Given the description of an element on the screen output the (x, y) to click on. 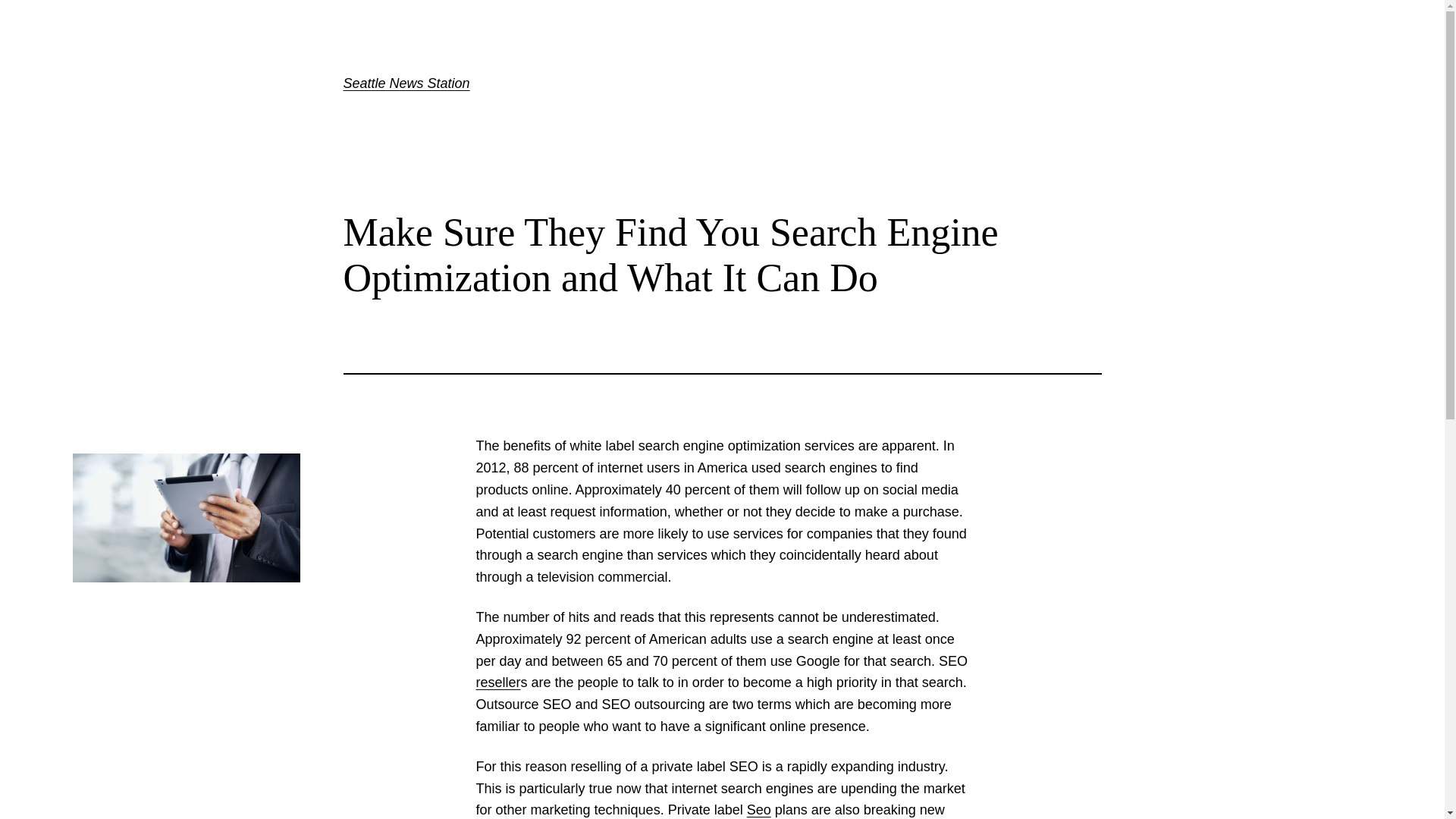
Interesting stuff (758, 809)
reseller (498, 682)
Seattle News Station (405, 83)
For the real stuff on Search engine (498, 682)
Seo (758, 809)
